Given the description of an element on the screen output the (x, y) to click on. 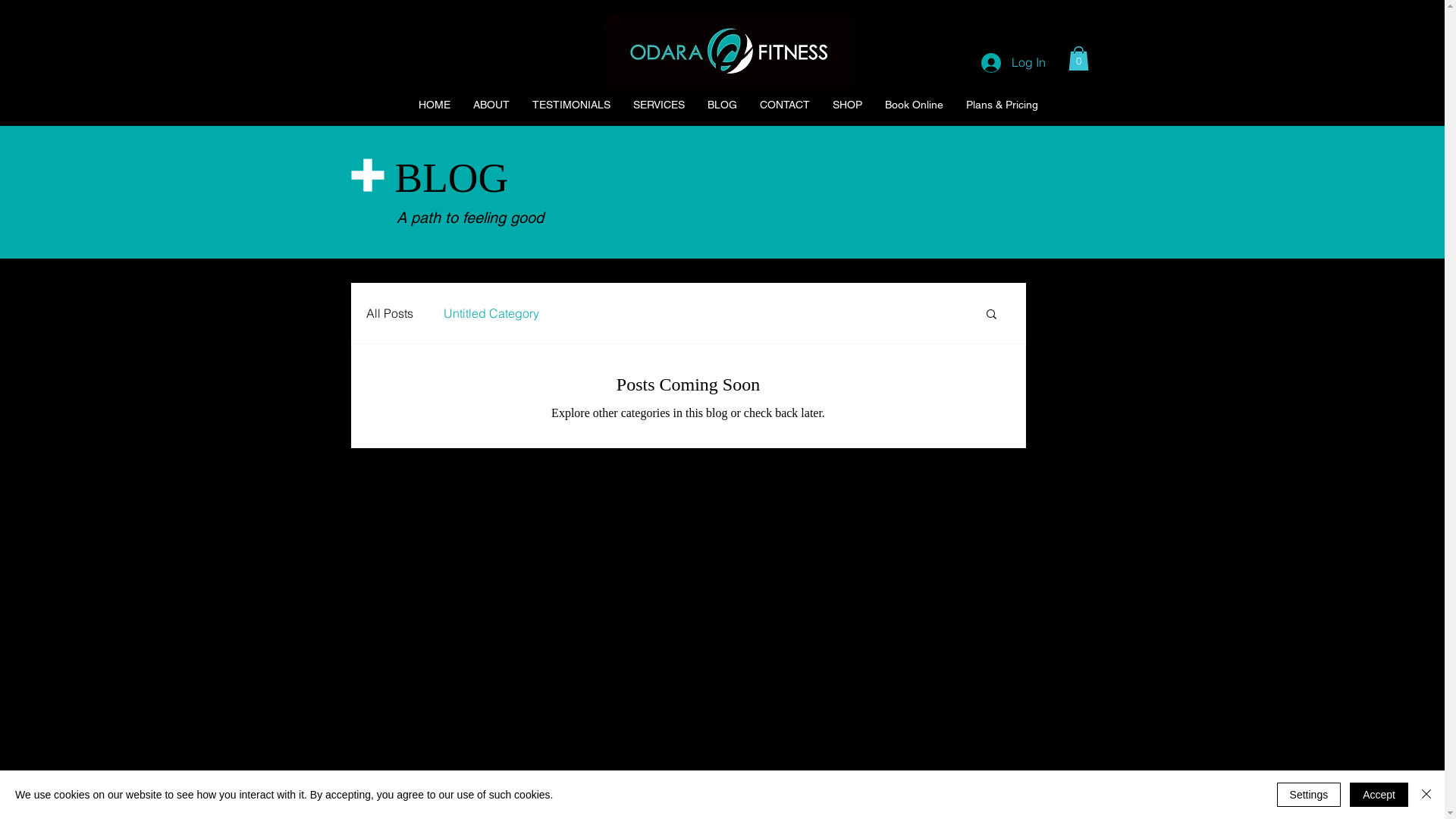
SHOP Element type: text (846, 104)
ABOUT Element type: text (487, 104)
TESTIMONIALS Element type: text (567, 104)
CONTACT Element type: text (784, 104)
Settings Element type: text (1309, 794)
All Posts Element type: text (388, 312)
HOME Element type: text (430, 104)
Untitled Category Element type: text (490, 312)
0 Element type: text (1077, 58)
Accept Element type: text (1378, 794)
BLOG Element type: text (720, 104)
Plans & Pricing Element type: text (1000, 104)
Book Online Element type: text (913, 104)
Log In Element type: text (1012, 62)
SERVICES Element type: text (656, 104)
